Given the description of an element on the screen output the (x, y) to click on. 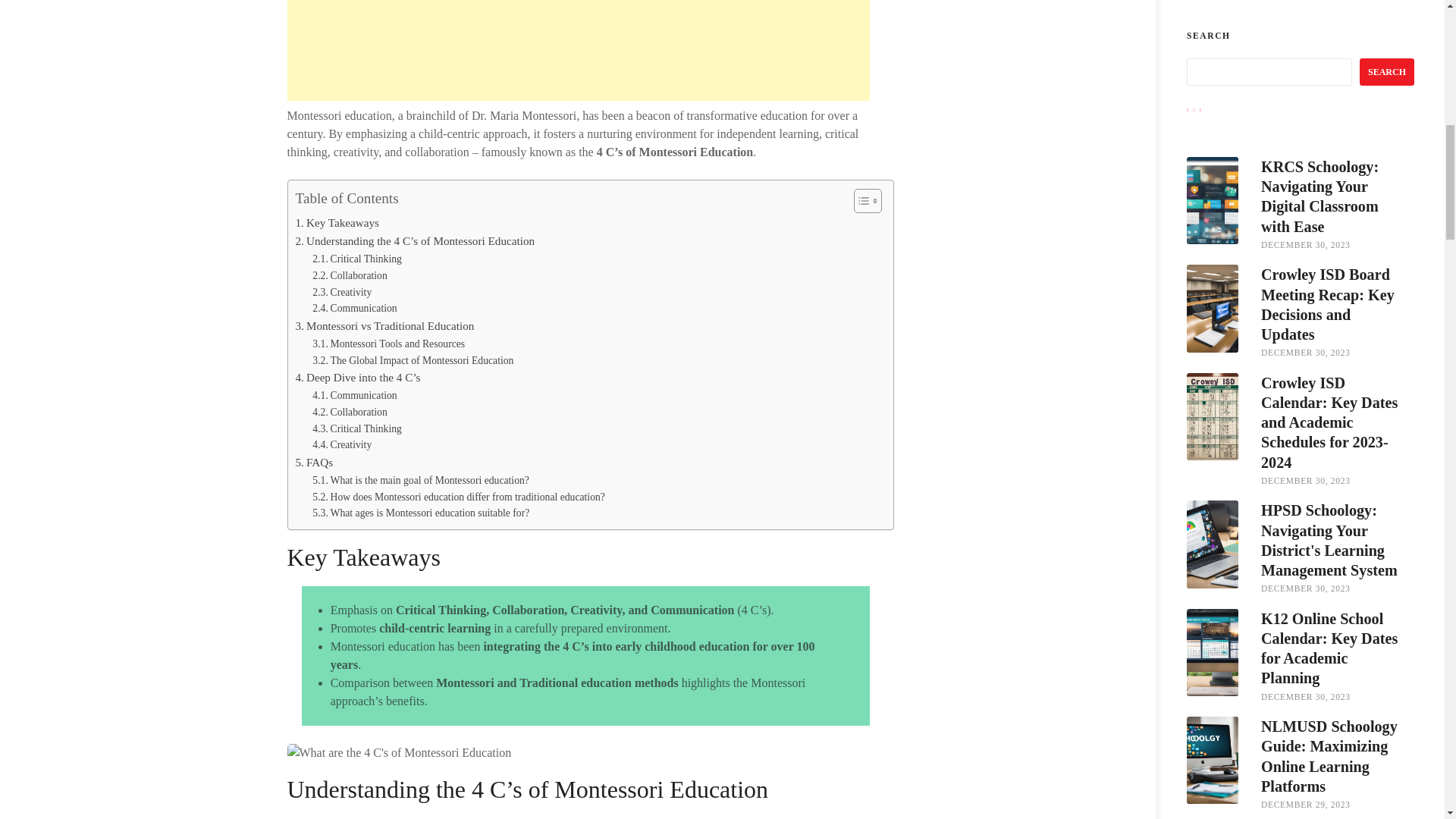
Creativity (342, 292)
Montessori vs Traditional Education (384, 325)
Collaboration (350, 275)
Critical Thinking (357, 428)
Communication (354, 395)
Collaboration (350, 412)
Creativity (342, 444)
Advertisement (577, 50)
Communication (354, 395)
